Given the description of an element on the screen output the (x, y) to click on. 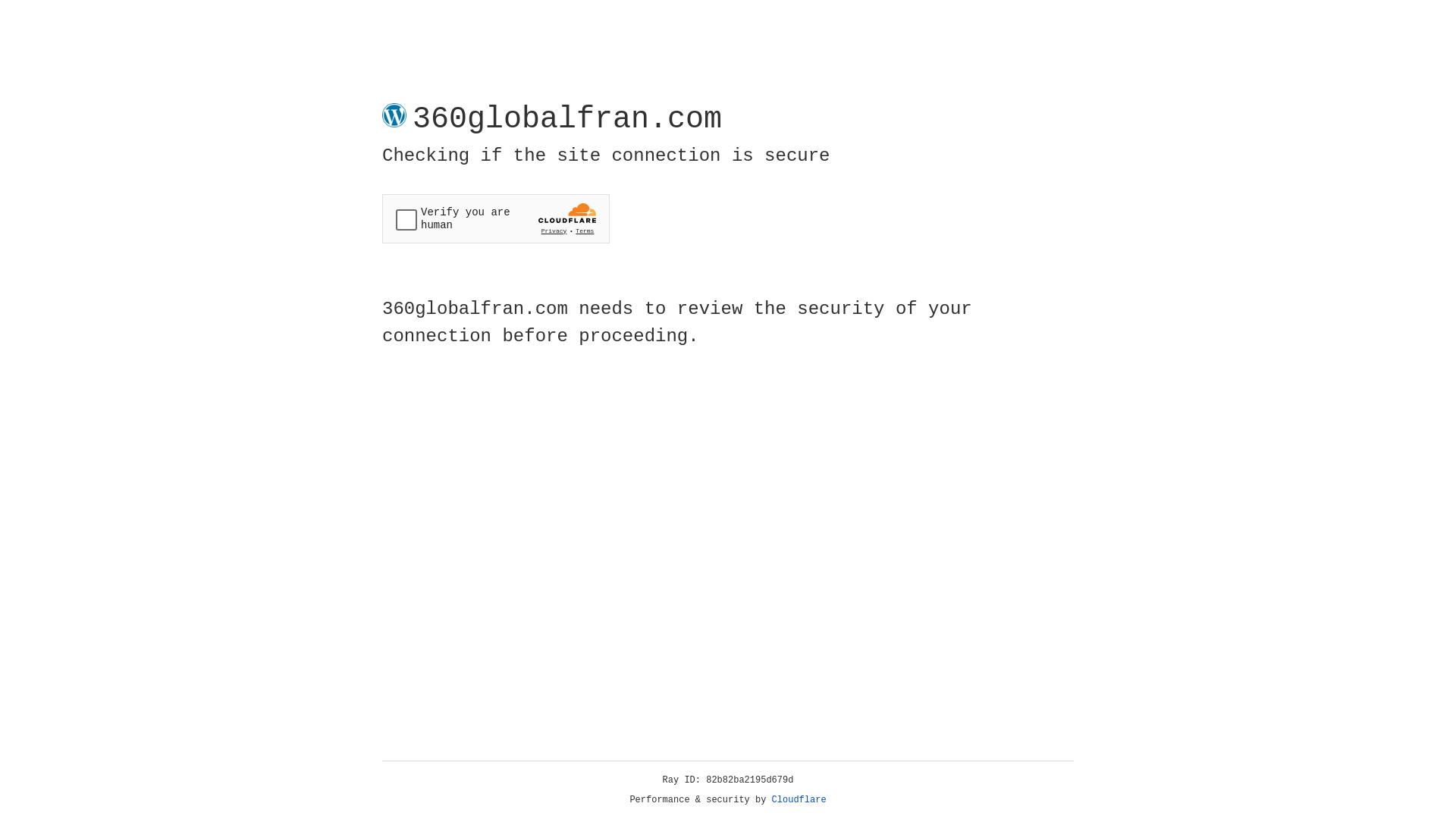
Cloudflare Element type: text (798, 799)
Widget containing a Cloudflare security challenge Element type: hover (495, 218)
